Given the description of an element on the screen output the (x, y) to click on. 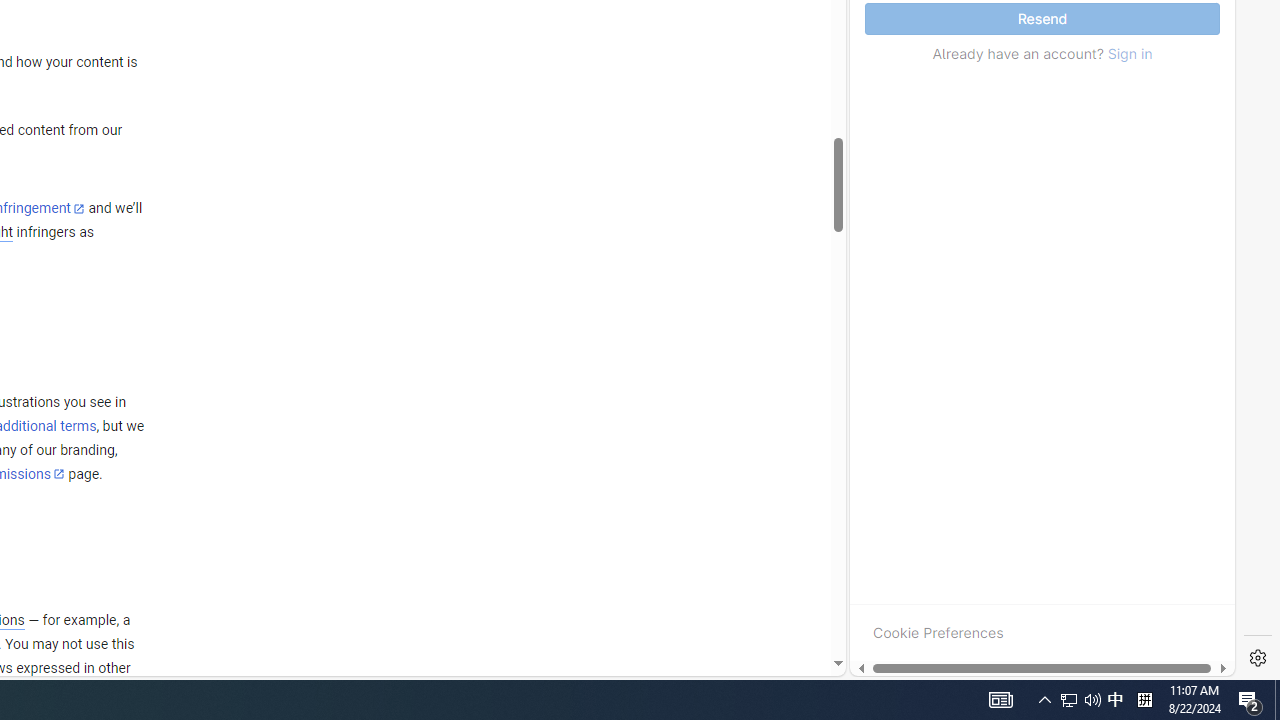
Cookie Preferences (938, 632)
Resend (1042, 19)
View details (1145, 256)
View details (1145, 255)
GitLab (966, 678)
